Given the description of an element on the screen output the (x, y) to click on. 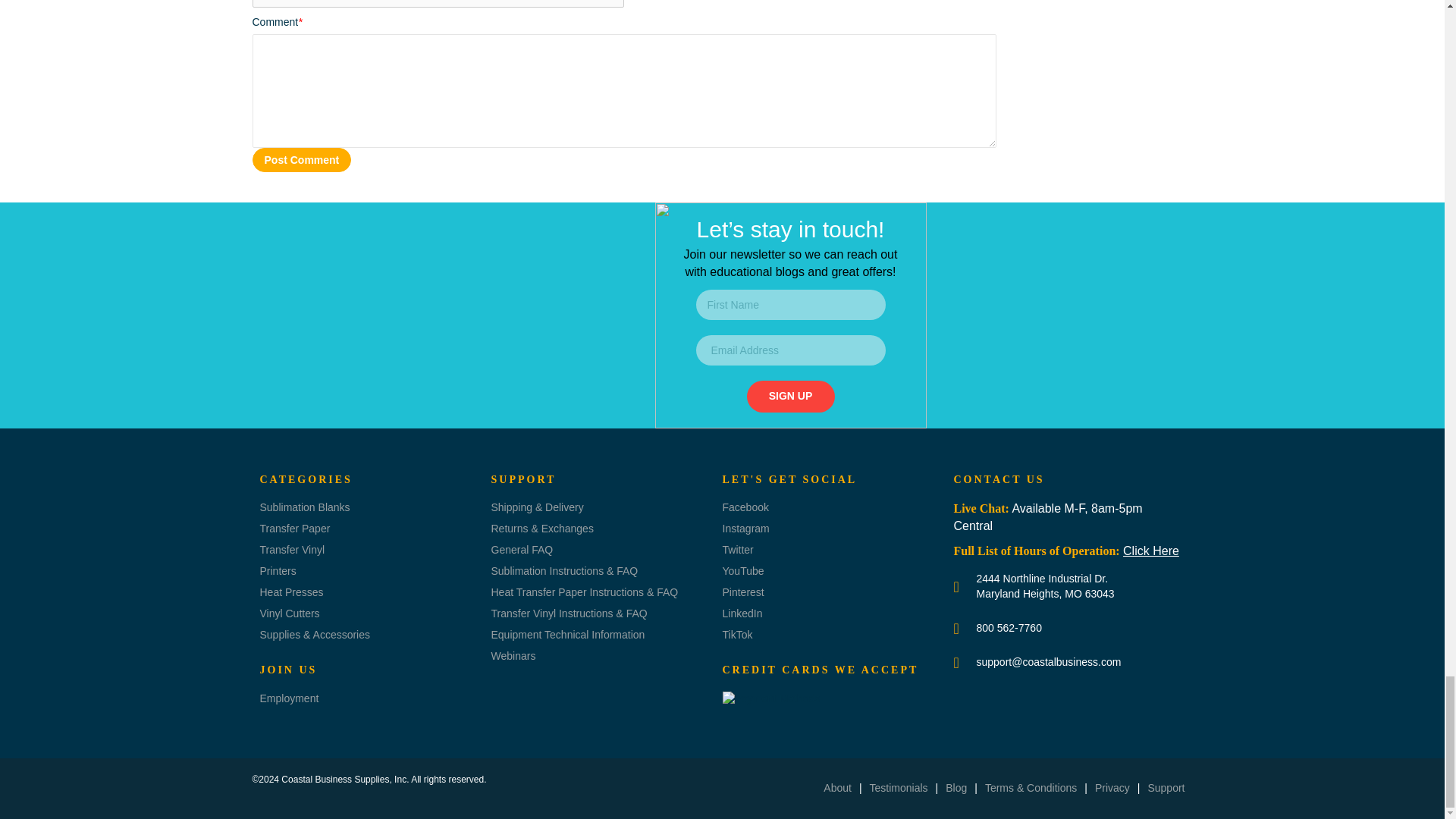
Email (437, 3)
Post Comment (300, 159)
Comment (623, 91)
Post Comment (300, 159)
Sign Up (789, 396)
